Given the description of an element on the screen output the (x, y) to click on. 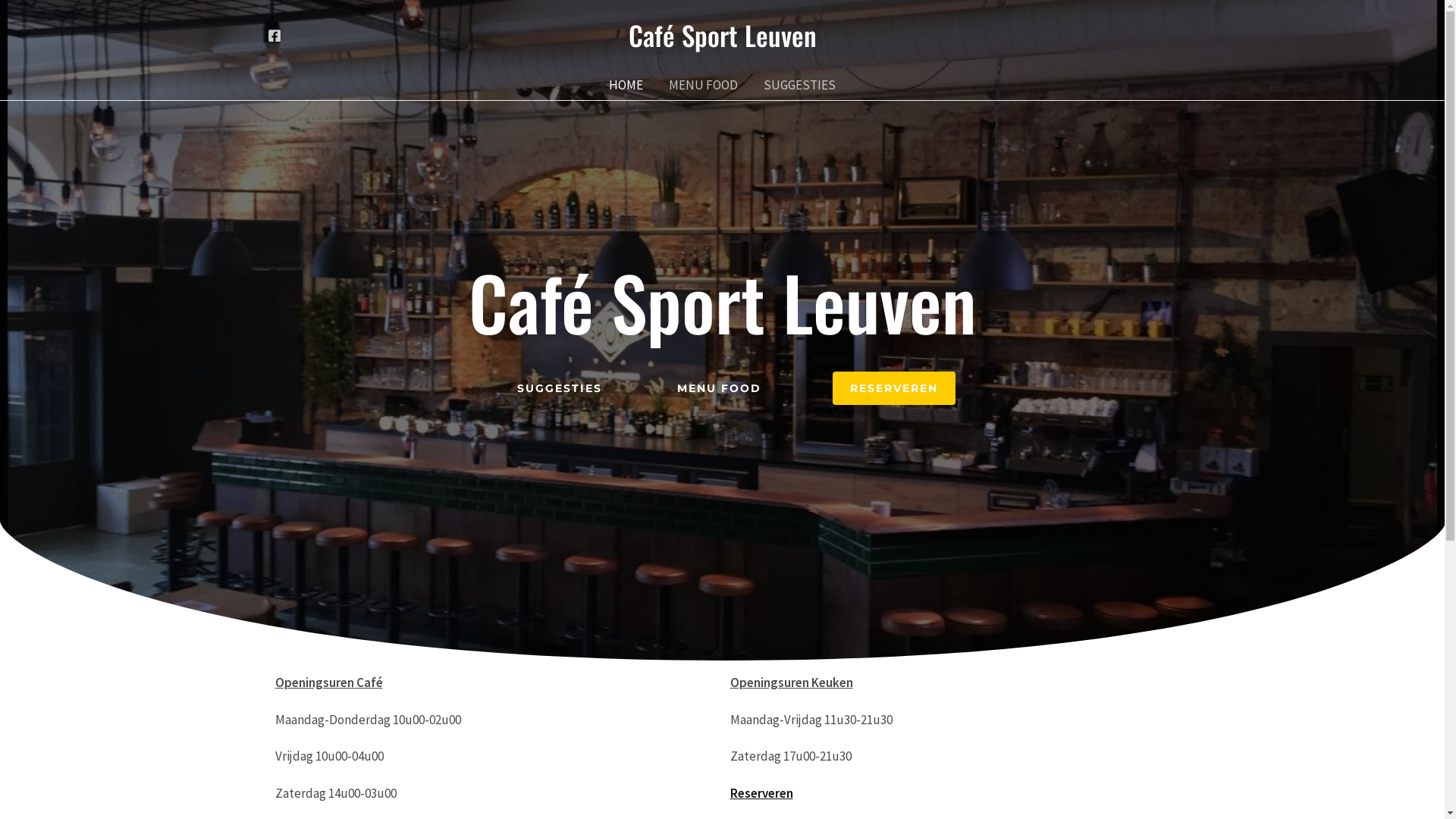
Reserveren Element type: text (760, 792)
MENU FOOD Element type: text (702, 84)
HOME Element type: text (625, 84)
RESERVEREN Element type: text (893, 387)
MENU FOOD Element type: text (718, 387)
SUGGESTIES Element type: text (799, 84)
SUGGESTIES Element type: text (559, 387)
